Given the description of an element on the screen output the (x, y) to click on. 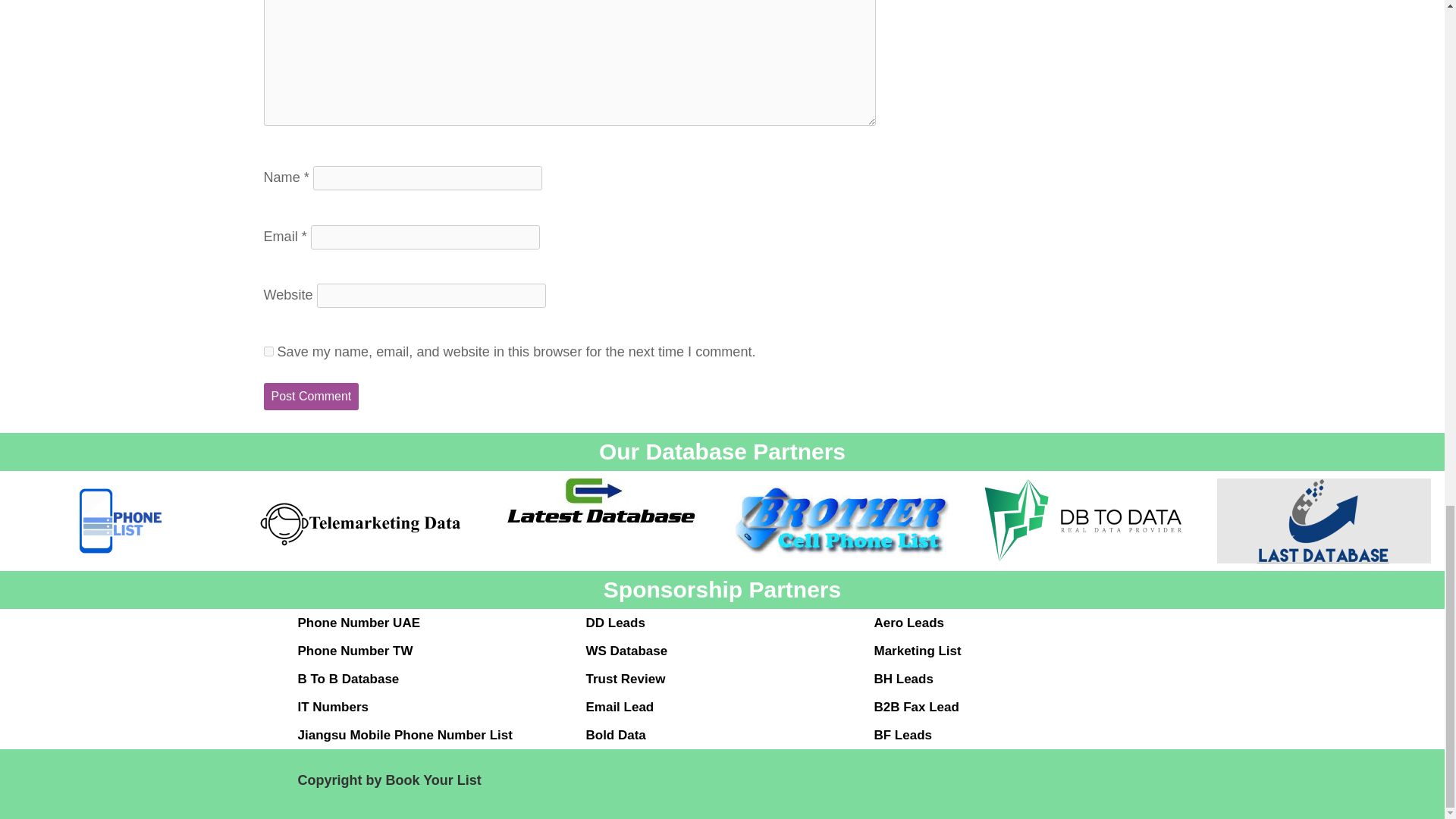
Post Comment (311, 396)
yes (268, 351)
Post Comment (311, 396)
